Given the description of an element on the screen output the (x, y) to click on. 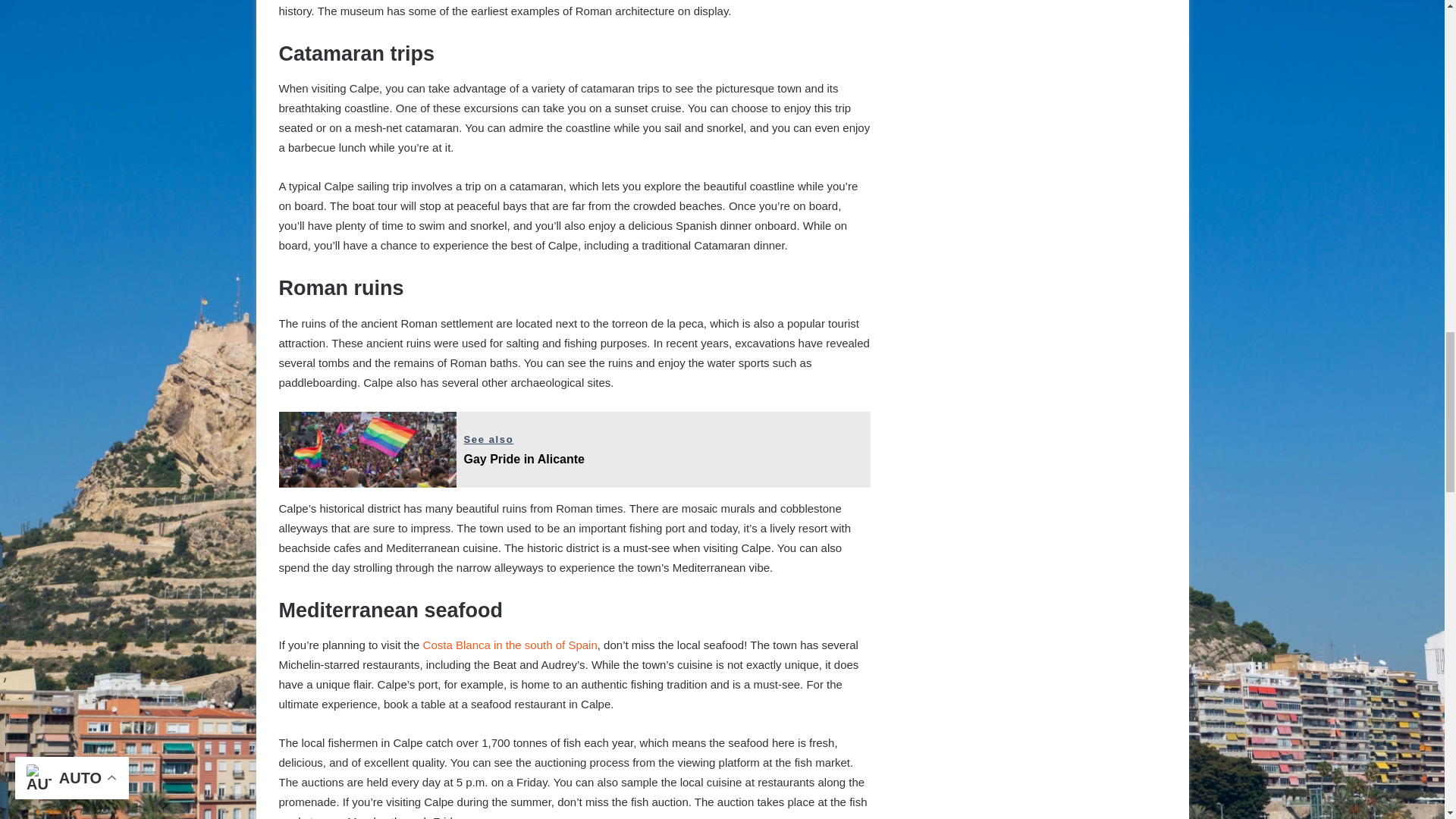
Costa Blanca in the south of Spain (509, 644)
Where is Costa Del Almeria in Spain? (574, 449)
